Given the description of an element on the screen output the (x, y) to click on. 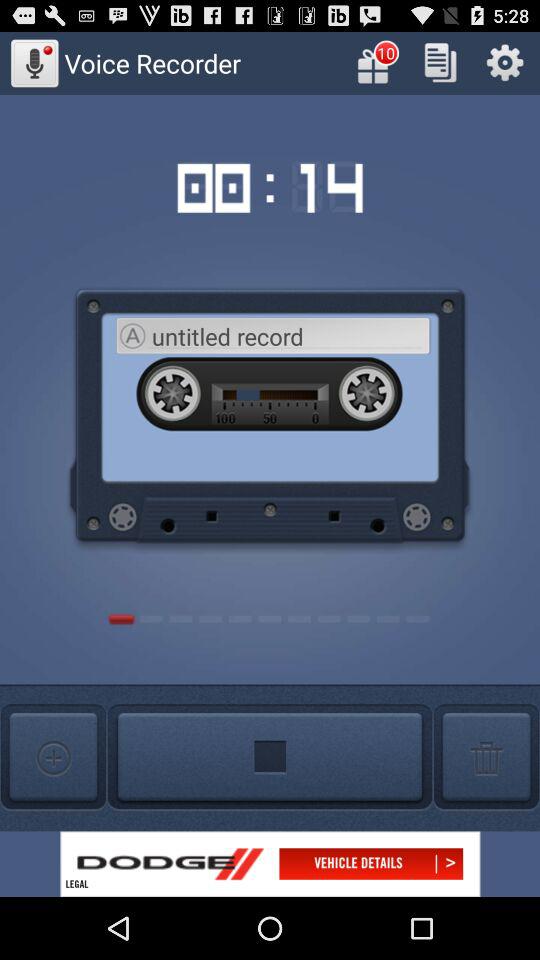
go to more options (53, 757)
